Given the description of an element on the screen output the (x, y) to click on. 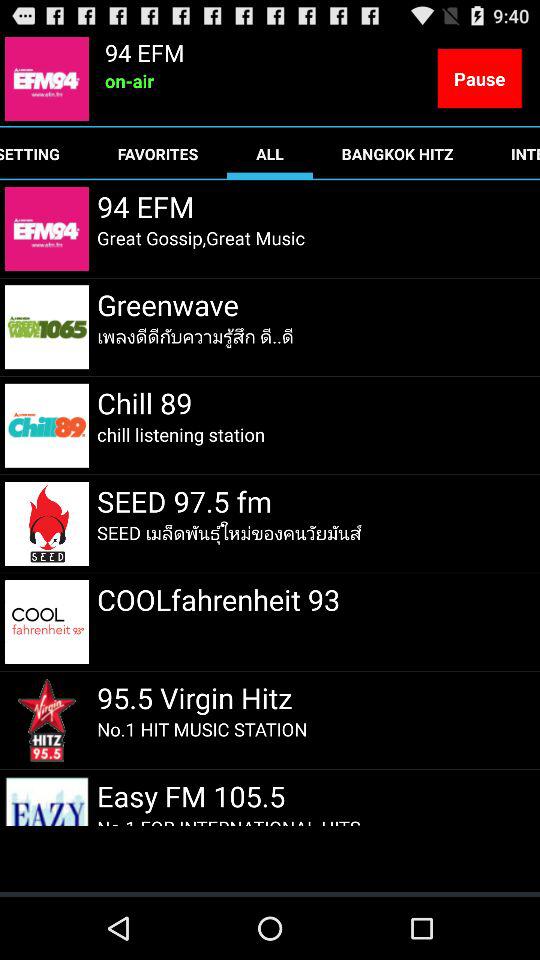
scroll to pause icon (479, 78)
